Given the description of an element on the screen output the (x, y) to click on. 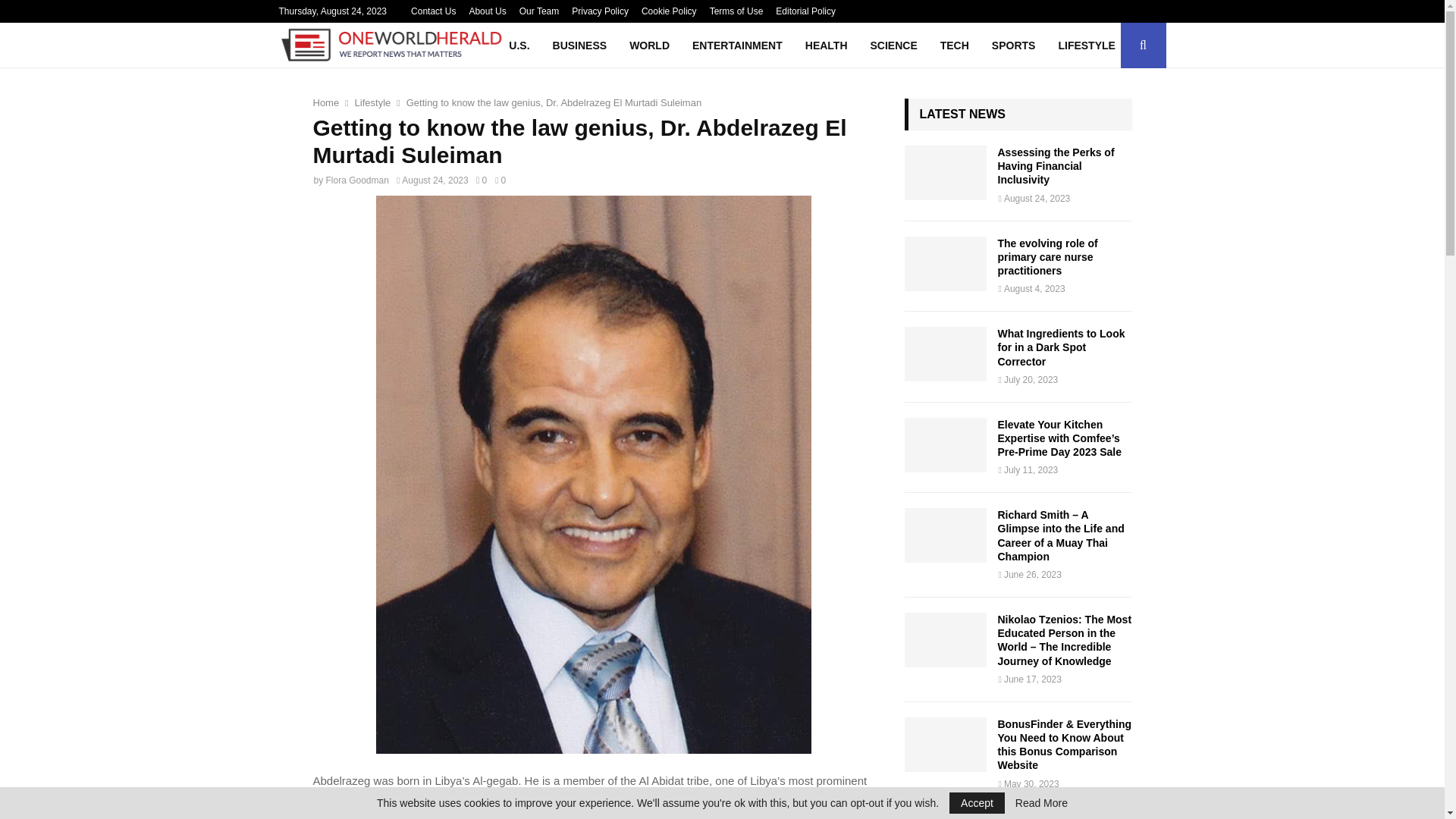
ENTERTAINMENT (738, 44)
SPORTS (1013, 44)
 What Ingredients to Look for in a Dark Spot Corrector  (1061, 346)
About Us (486, 11)
The evolving role of primary care nurse practitioners (944, 263)
Privacy Policy (600, 11)
Assessing the Perks of Having Financial Inclusivity (944, 172)
Home (326, 102)
Contact Us (432, 11)
SCIENCE (893, 44)
0 (481, 180)
Flora Goodman (357, 180)
Terms of Use (736, 11)
Cookie Policy (669, 11)
BUSINESS (580, 44)
